Given the description of an element on the screen output the (x, y) to click on. 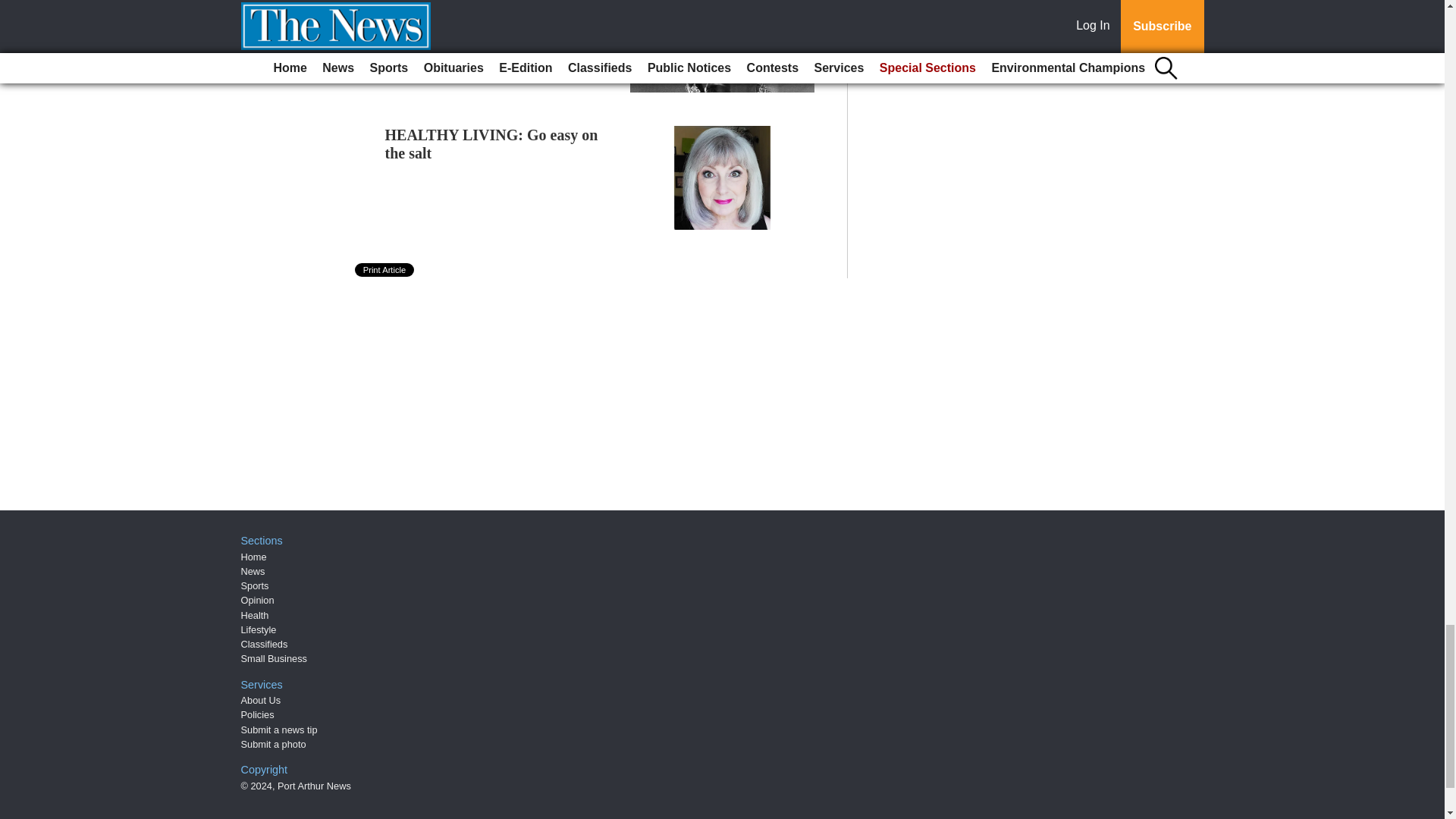
HEALTHY LIVING: Go easy on the salt (491, 143)
Print Article (384, 269)
HEALTHY LIVING: Go easy on the salt (491, 143)
